Given the description of an element on the screen output the (x, y) to click on. 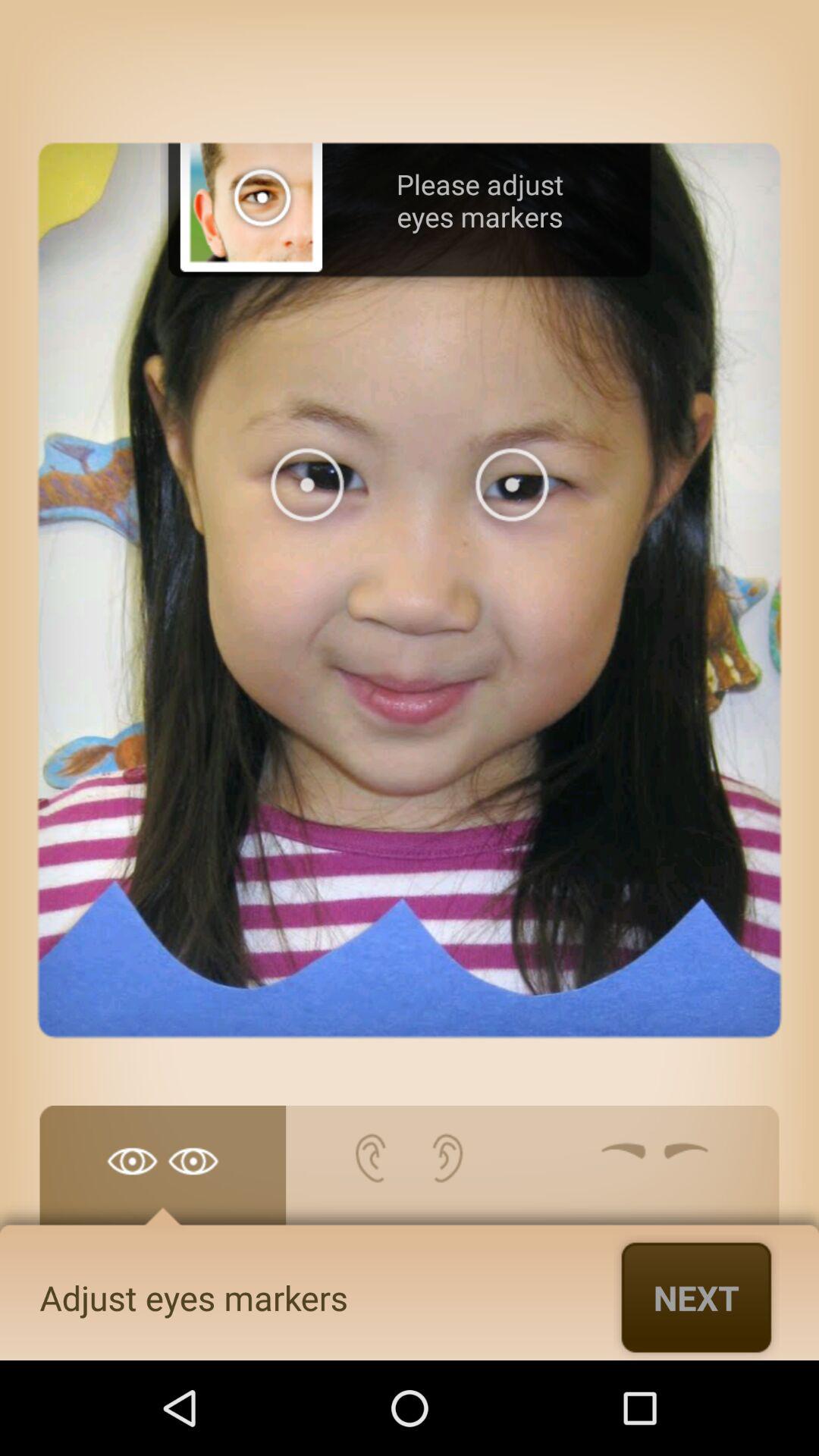
adjust ears marks (409, 1173)
